Given the description of an element on the screen output the (x, y) to click on. 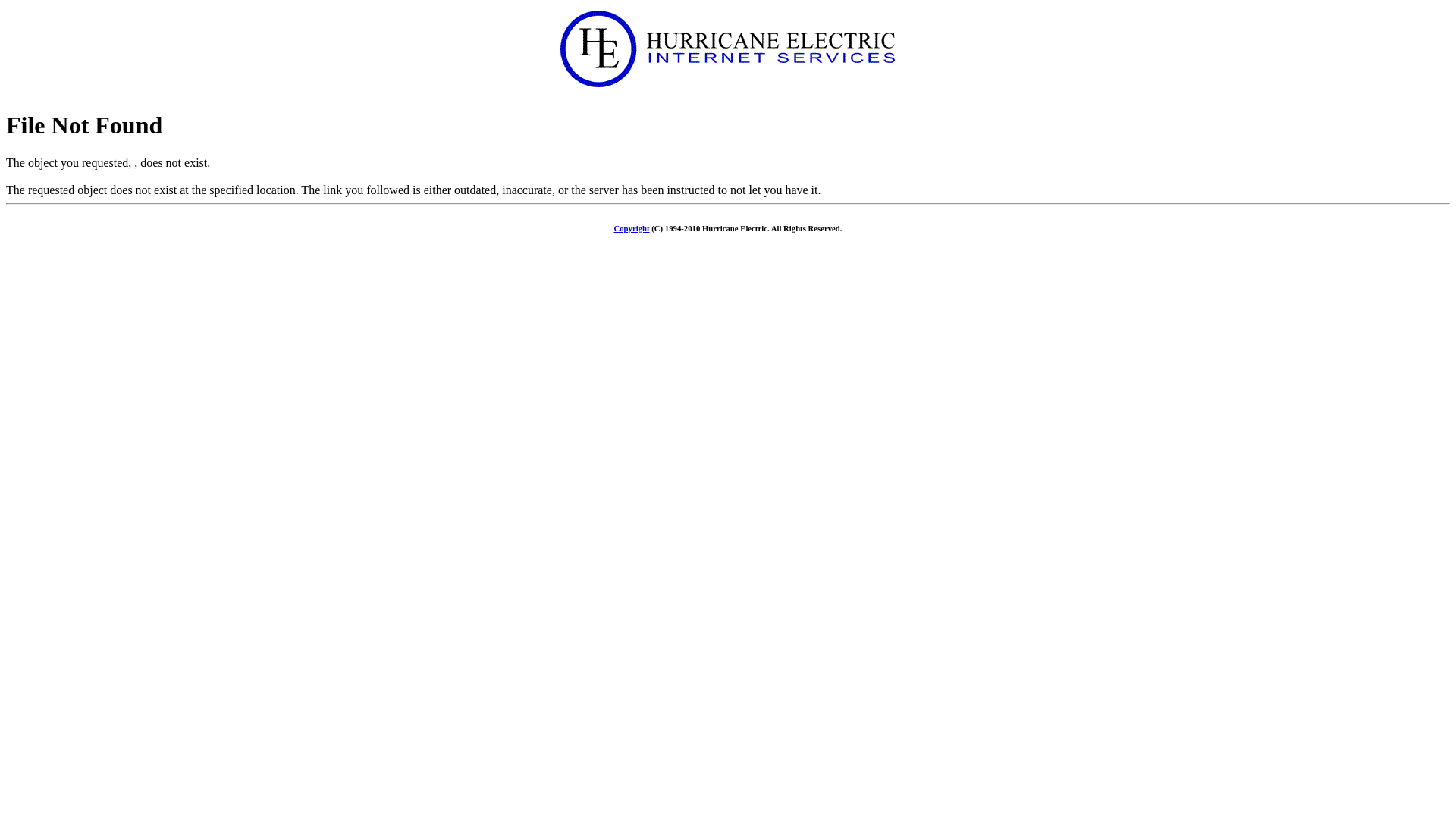
Copyright Element type: text (631, 227)
